Given the description of an element on the screen output the (x, y) to click on. 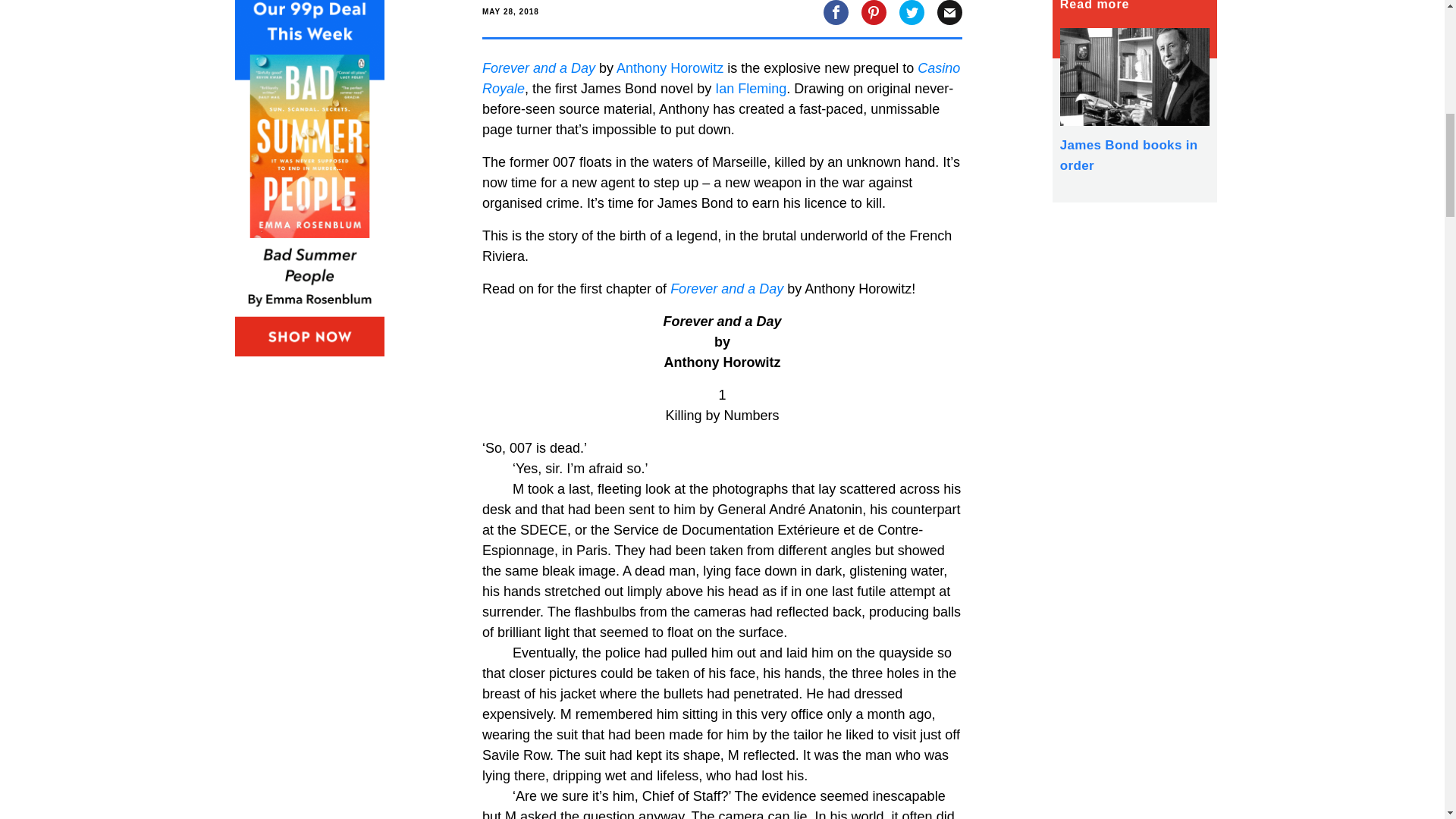
Forever and a Day (538, 68)
Casino Royale (720, 78)
Share on Pintrest (873, 11)
Anthony Horowitz (669, 68)
Share via Email (949, 11)
Forever and a Day (726, 288)
Share on Facebook (836, 11)
Ian Fleming (750, 88)
James Bond books in order (1134, 99)
Share on Twitter (911, 11)
